Given the description of an element on the screen output the (x, y) to click on. 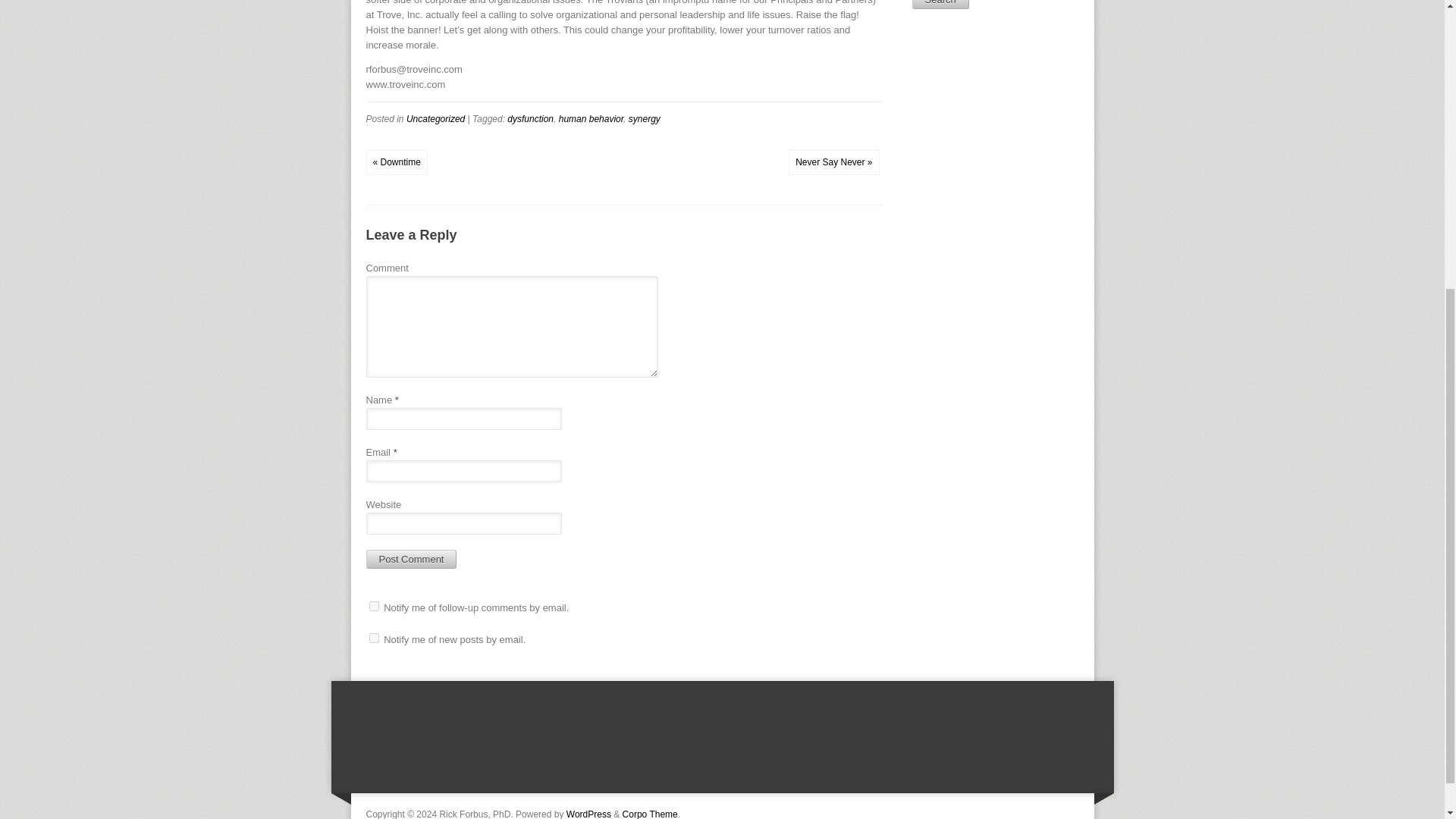
human behavior (591, 118)
dysfunction (529, 118)
Uncategorized (435, 118)
subscribe (373, 637)
Search (939, 4)
synergy (644, 118)
Post Comment (411, 558)
Post Comment (411, 558)
subscribe (373, 605)
